Given the description of an element on the screen output the (x, y) to click on. 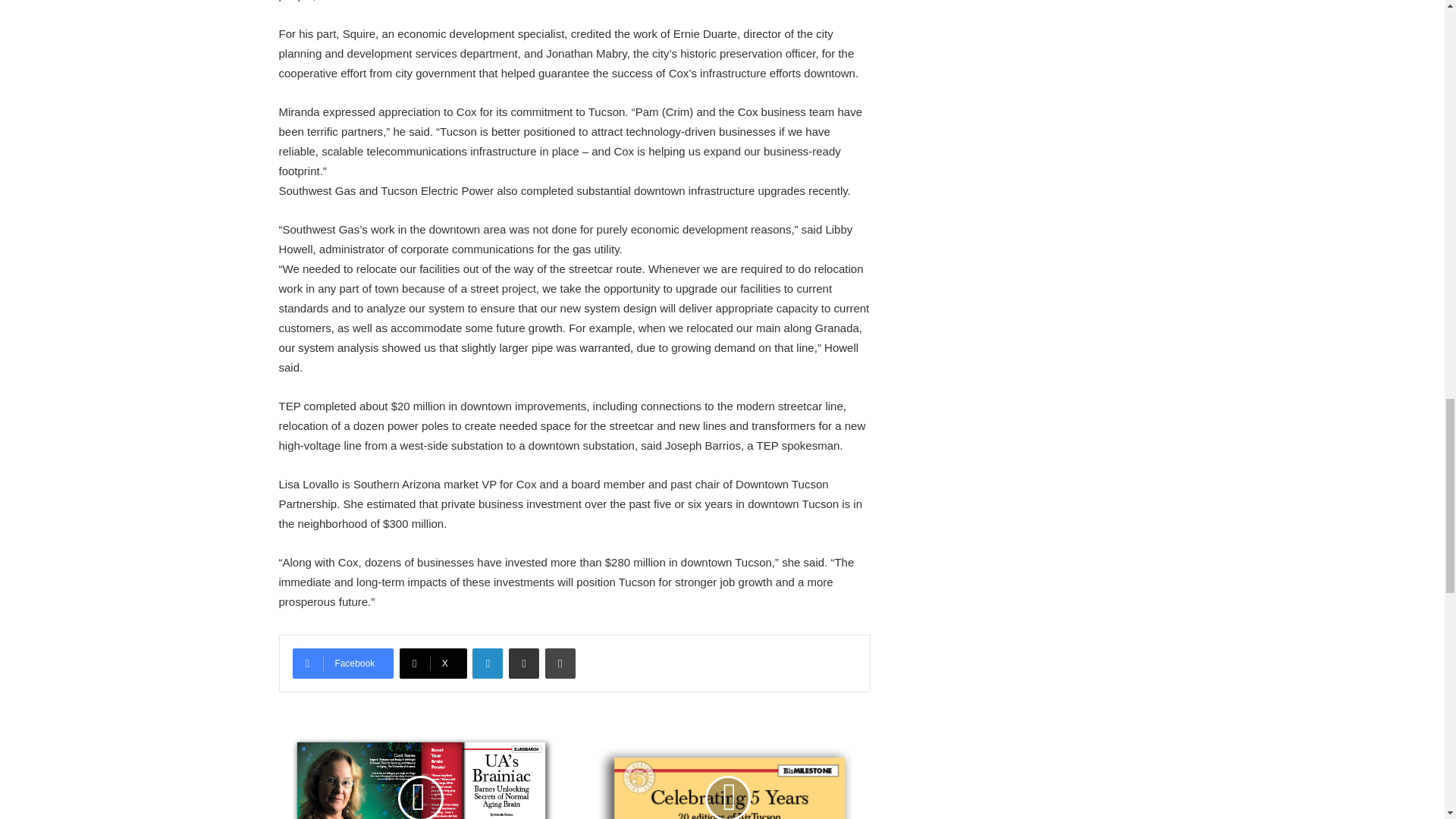
LinkedIn (486, 663)
X (432, 663)
Share via Email (523, 663)
Facebook (343, 663)
Print (559, 663)
